Given the description of an element on the screen output the (x, y) to click on. 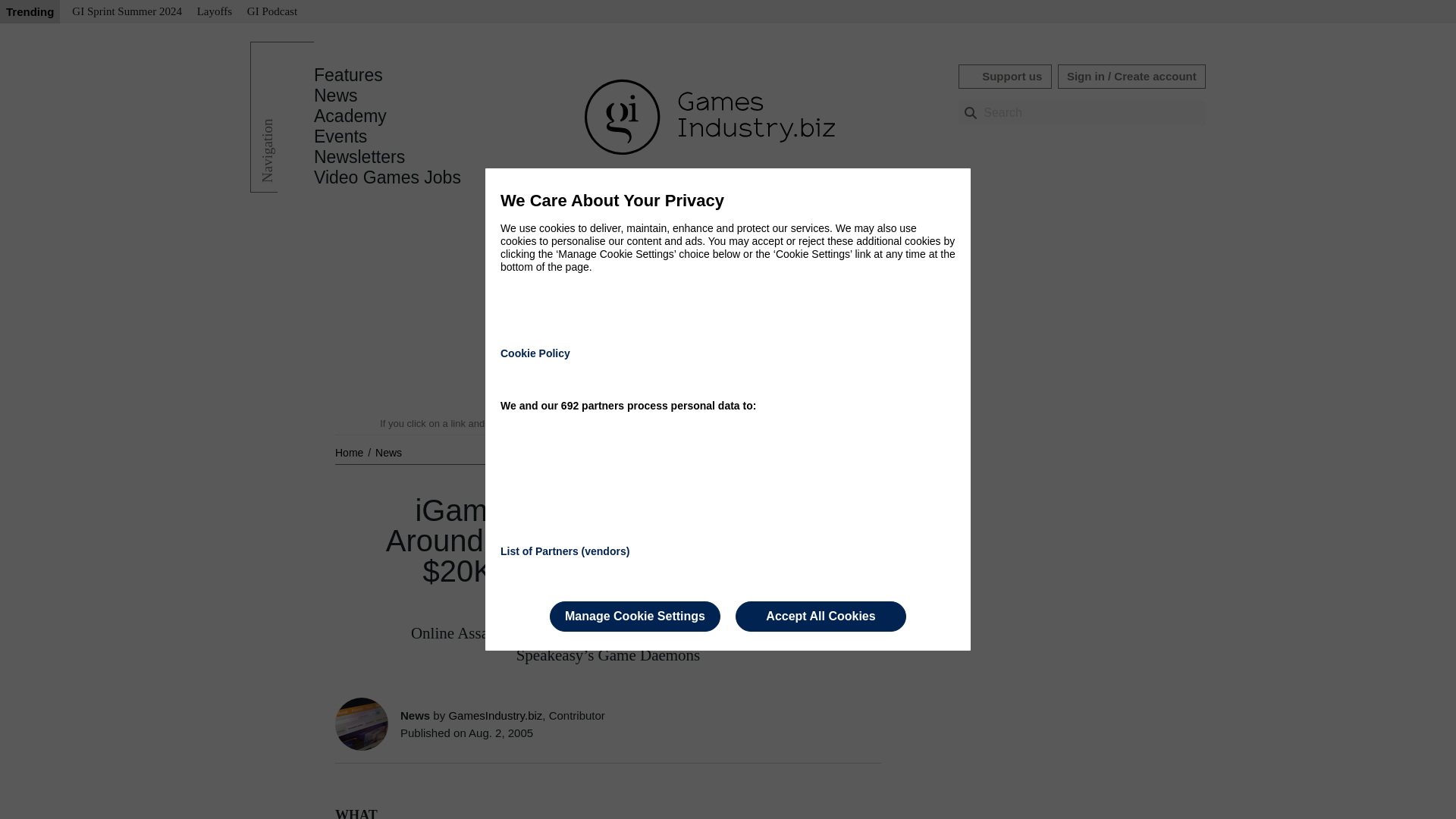
Read our editorial policy (781, 423)
Newsletters (359, 157)
Events (340, 136)
GamesIndustry.biz (494, 715)
Events (340, 136)
Features (348, 75)
GI Sprint Summer 2024 (126, 11)
Support us (1004, 75)
Layoffs (214, 11)
GI Sprint Summer 2024 (126, 11)
Home (350, 452)
Features (348, 75)
Newsletters (359, 157)
News (336, 95)
News (388, 452)
